Given the description of an element on the screen output the (x, y) to click on. 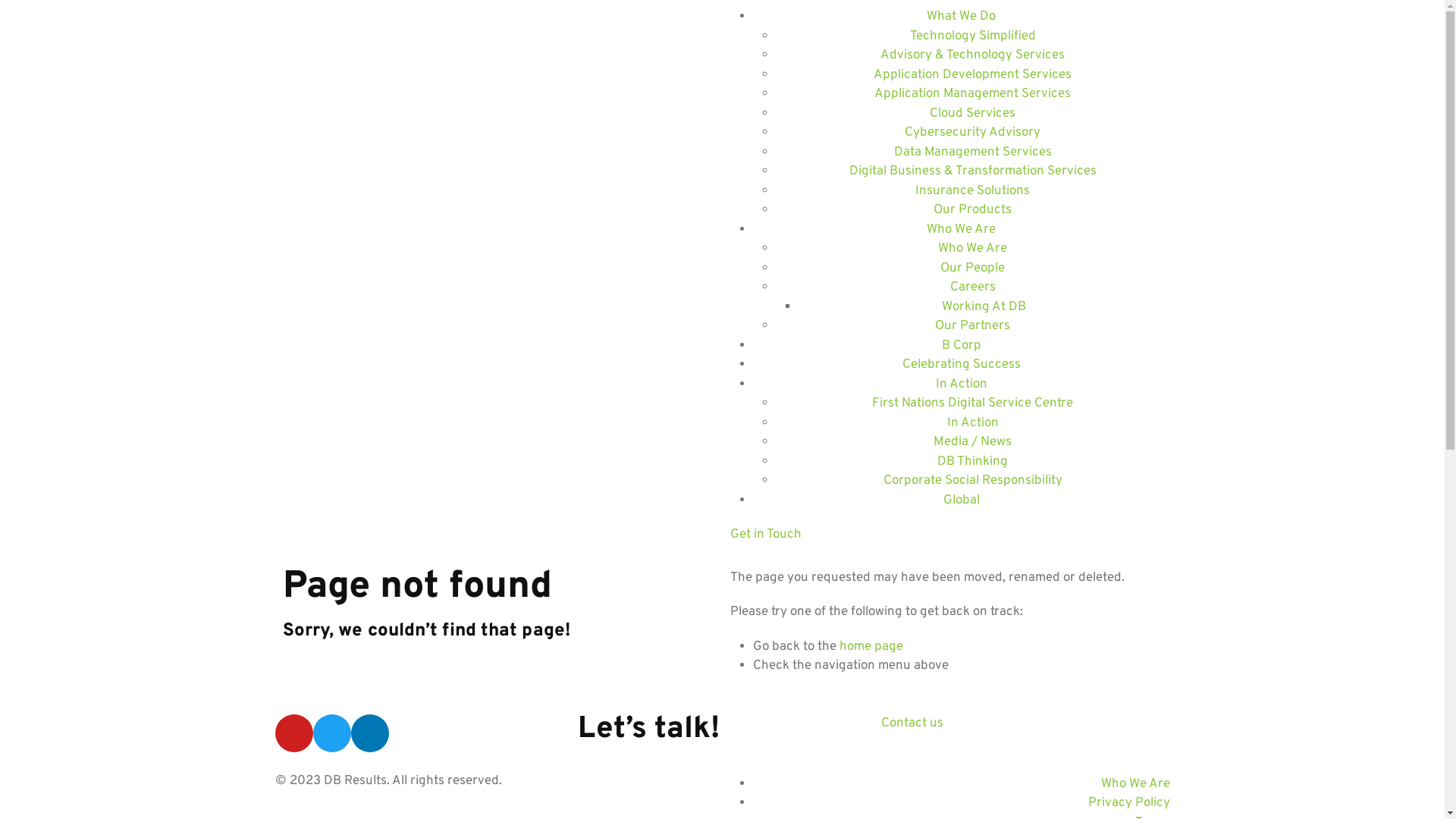
First Nations Digital Service Centre Element type: text (972, 403)
Our Products Element type: text (972, 209)
In Action Element type: text (971, 422)
Cybersecurity Advisory Element type: text (972, 132)
Who We Are Element type: text (972, 248)
In Action Element type: text (961, 384)
Corporate Social Responsibility Element type: text (971, 480)
Data Management Services Element type: text (972, 152)
DB Thinking Element type: text (972, 461)
Advisory & Technology Services Element type: text (972, 55)
Careers Element type: text (971, 287)
Cloud Services Element type: text (972, 112)
Application Management Services Element type: text (972, 93)
What We Do Element type: text (960, 16)
Our Partners Element type: text (972, 325)
B Corp Element type: text (961, 344)
Technology Simplified Element type: text (972, 35)
Working At DB Element type: text (983, 306)
Contact us Element type: text (1025, 724)
Media / News Element type: text (972, 441)
Our People Element type: text (972, 267)
Insurance Solutions Element type: text (972, 190)
Global Element type: text (961, 499)
Get in Touch Element type: text (949, 535)
Digital Business & Transformation Services Element type: text (972, 171)
Celebrating Success Element type: text (961, 364)
Who We Are Element type: text (960, 229)
Who We Are Element type: text (1135, 783)
home page Element type: text (870, 646)
Privacy Policy Element type: text (1128, 802)
Application Development Services Element type: text (972, 74)
